Given the description of an element on the screen output the (x, y) to click on. 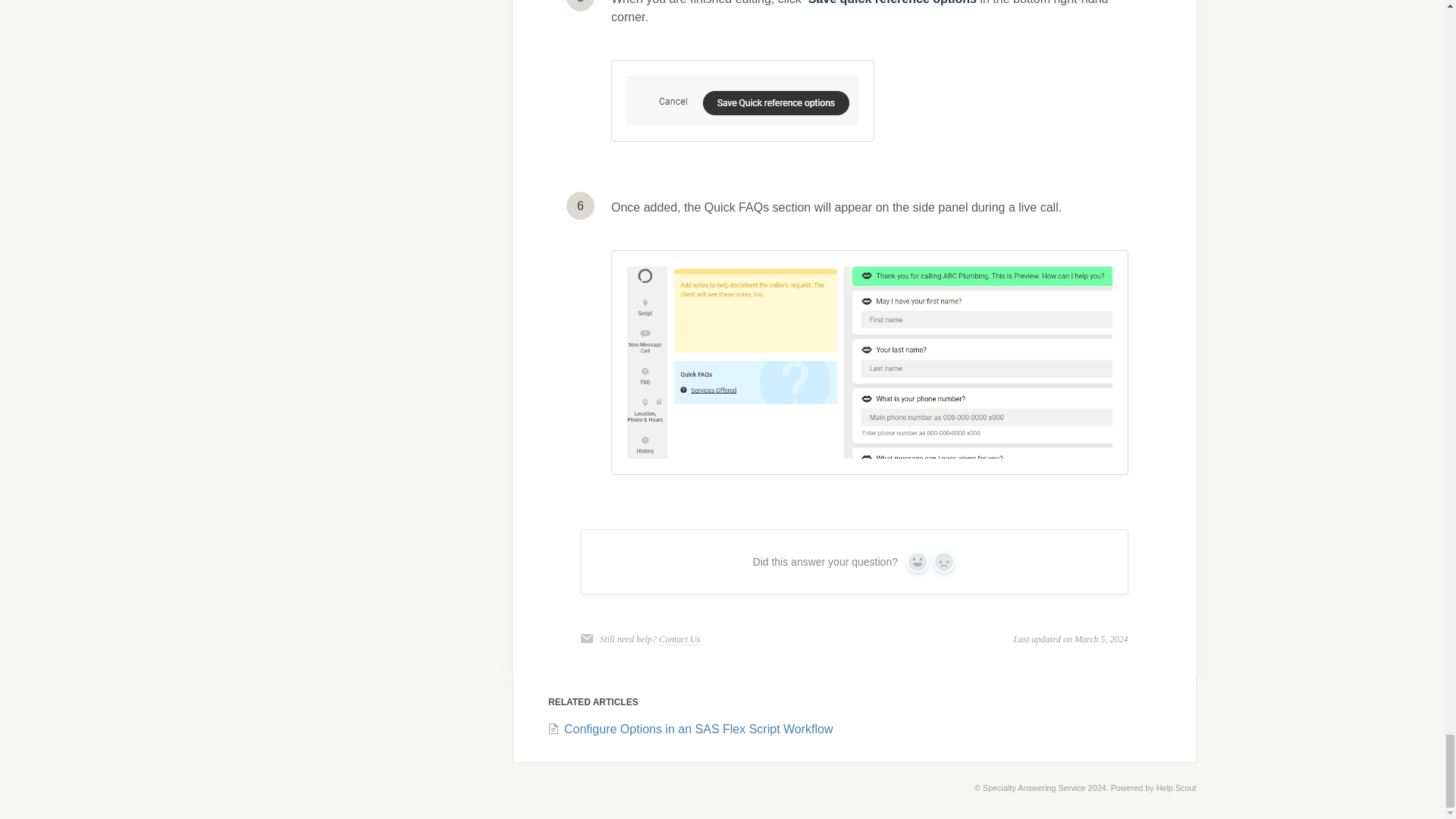
No (944, 561)
Specialty Answering Service (1034, 787)
Configure Options in an SAS Flex Script Workflow (689, 728)
Help Scout (1176, 787)
Contact Us (679, 639)
Yes (917, 561)
